Given the description of an element on the screen output the (x, y) to click on. 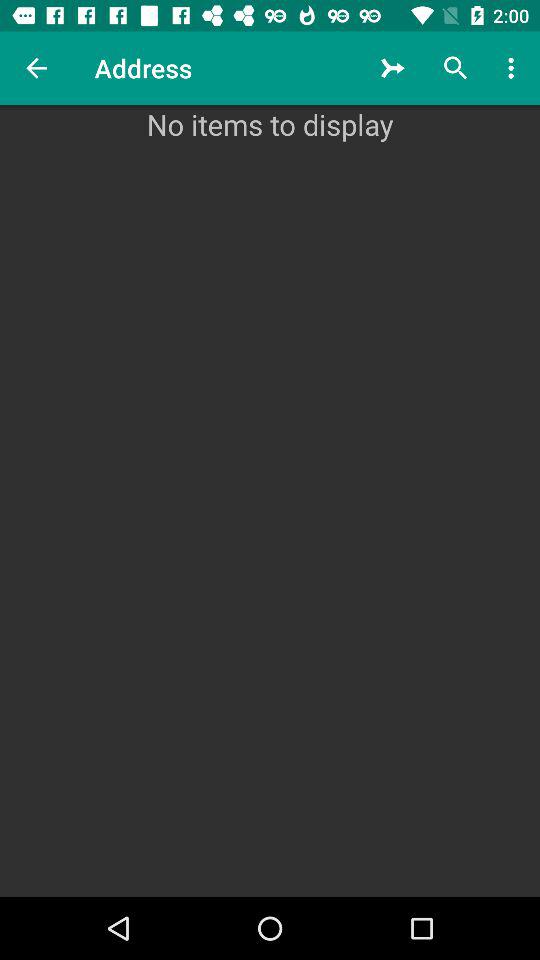
select the item next to the address (36, 68)
